Given the description of an element on the screen output the (x, y) to click on. 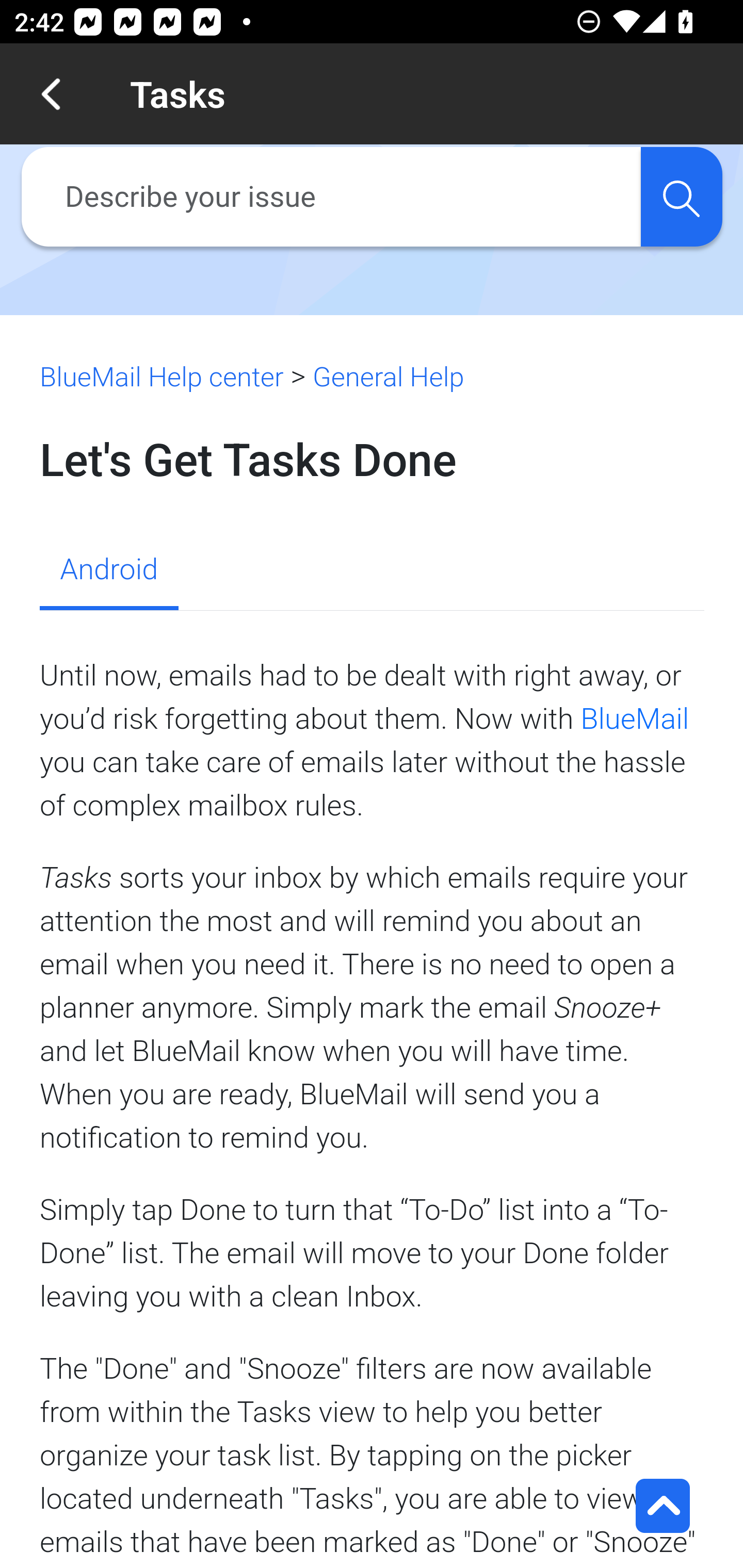
Navigate up (50, 93)
search (680, 196)
BlueMail Help center BlueMail  Help center (162, 376)
General Help (387, 376)
Android (108, 571)
BlueMail (634, 718)
